Given the description of an element on the screen output the (x, y) to click on. 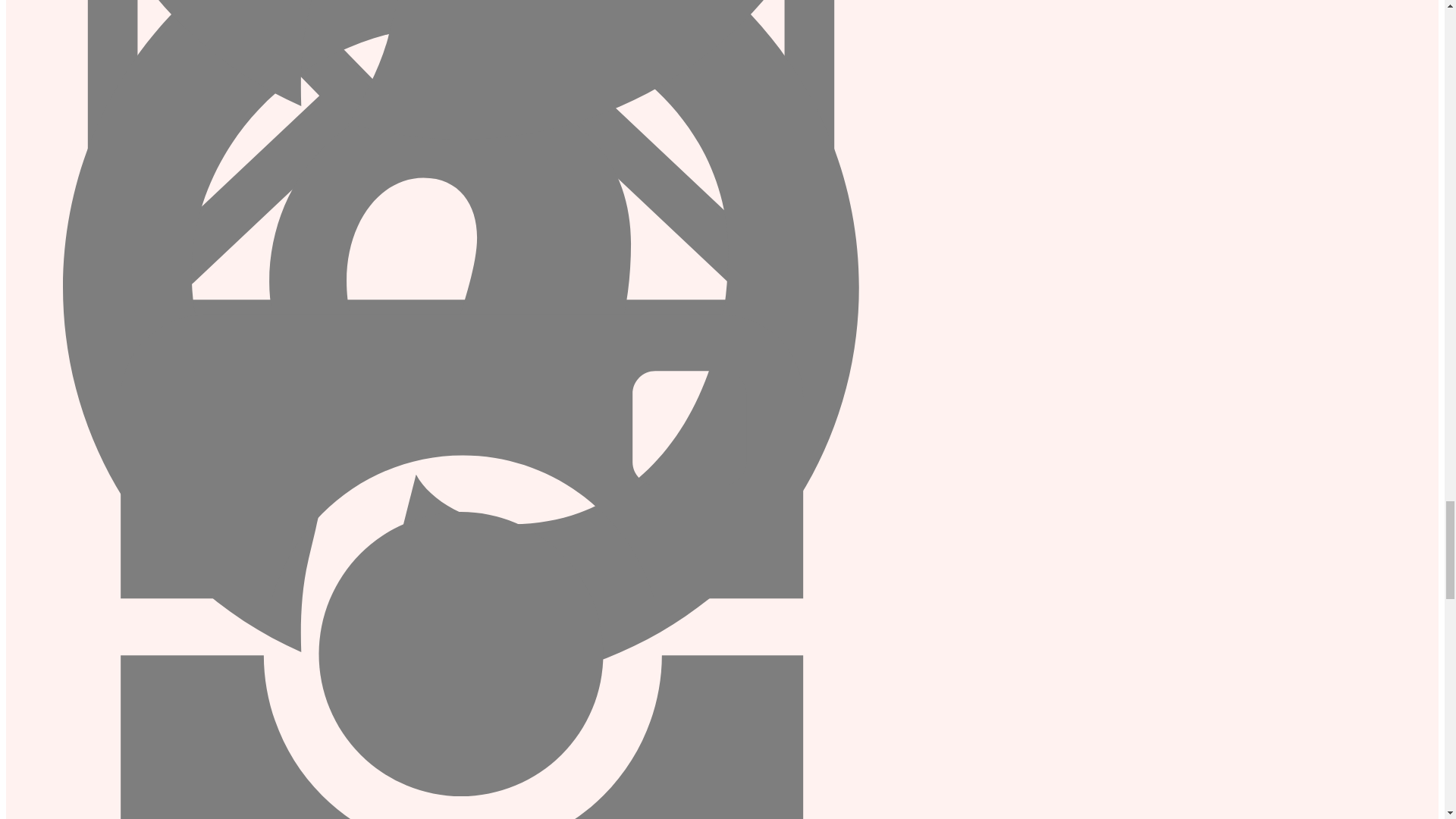
CONTACT (460, 552)
ABOUT (460, 615)
PORTFOLIO (460, 599)
INVESTMENT (460, 568)
JOURNAL (460, 584)
HOME (460, 631)
